Given the description of an element on the screen output the (x, y) to click on. 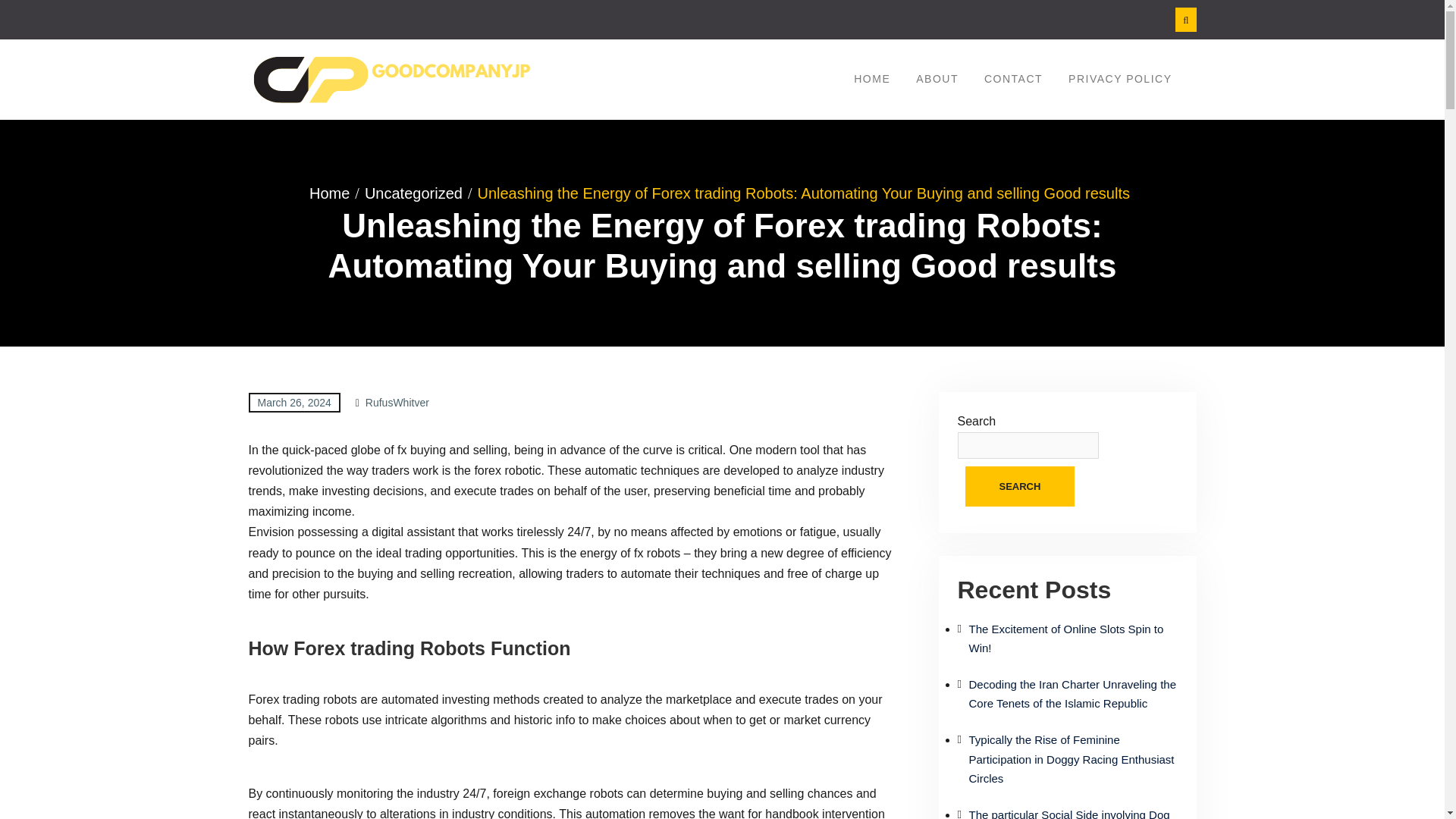
March 26, 2024 (294, 402)
The Excitement of Online Slots Spin to Win! (1066, 638)
Home (333, 193)
RufusWhitver (397, 402)
CONTACT (1012, 79)
SEARCH (1018, 486)
Uncategorized (418, 193)
